Given the description of an element on the screen output the (x, y) to click on. 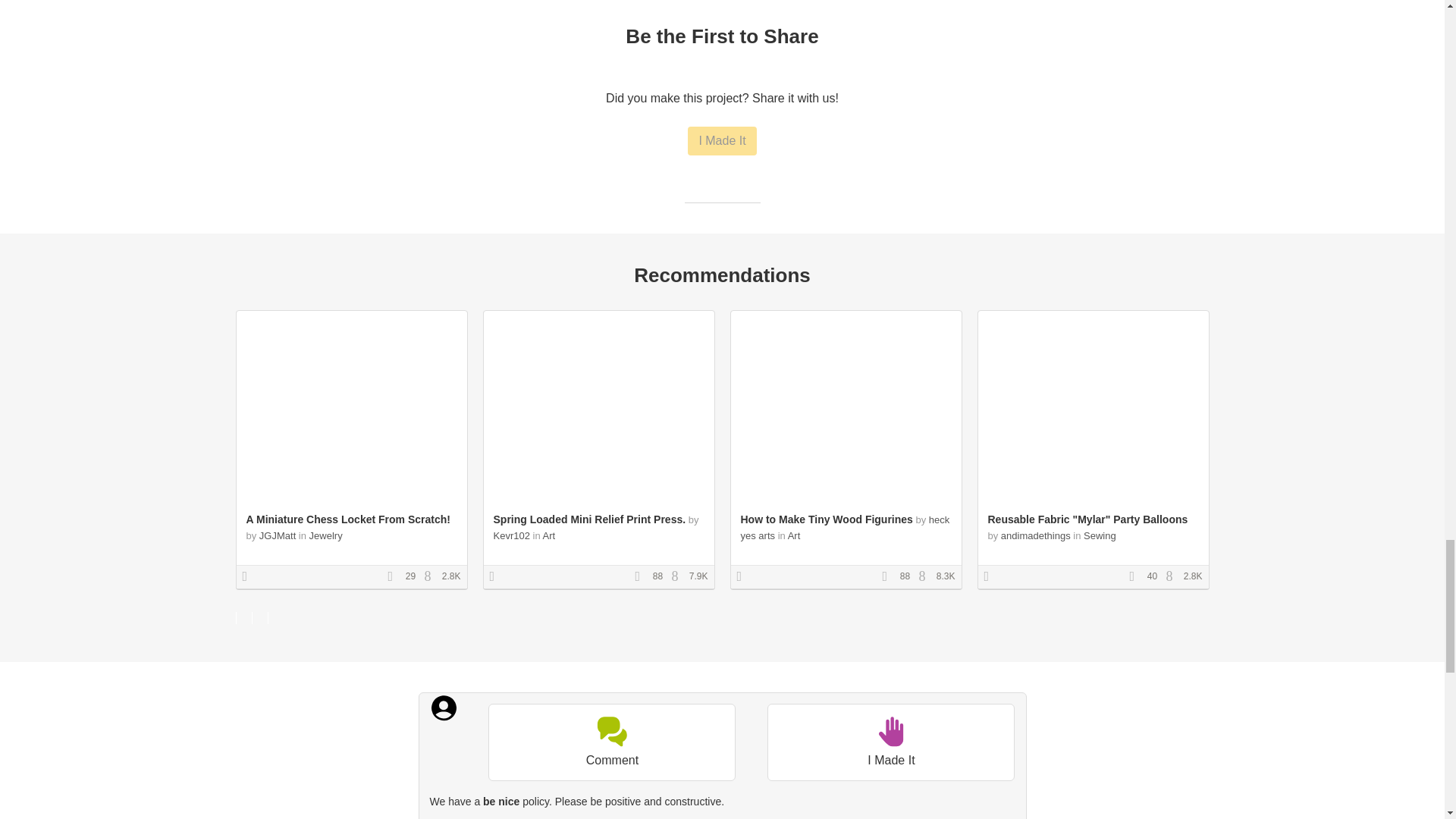
Views Count (678, 576)
A Miniature Chess Locket From Scratch! (347, 519)
Spring Loaded Mini Relief Print Press. (589, 519)
heck yes arts (844, 527)
How to Make Tiny Wood Figurines (825, 519)
Kevr102 (511, 535)
JGJMatt (277, 535)
I Made It (721, 140)
Views Count (431, 576)
Contest Winner (497, 576)
Views Count (925, 576)
Views Count (1173, 576)
Art (793, 535)
Favorites Count (889, 576)
Favorites Count (641, 576)
